Given the description of an element on the screen output the (x, y) to click on. 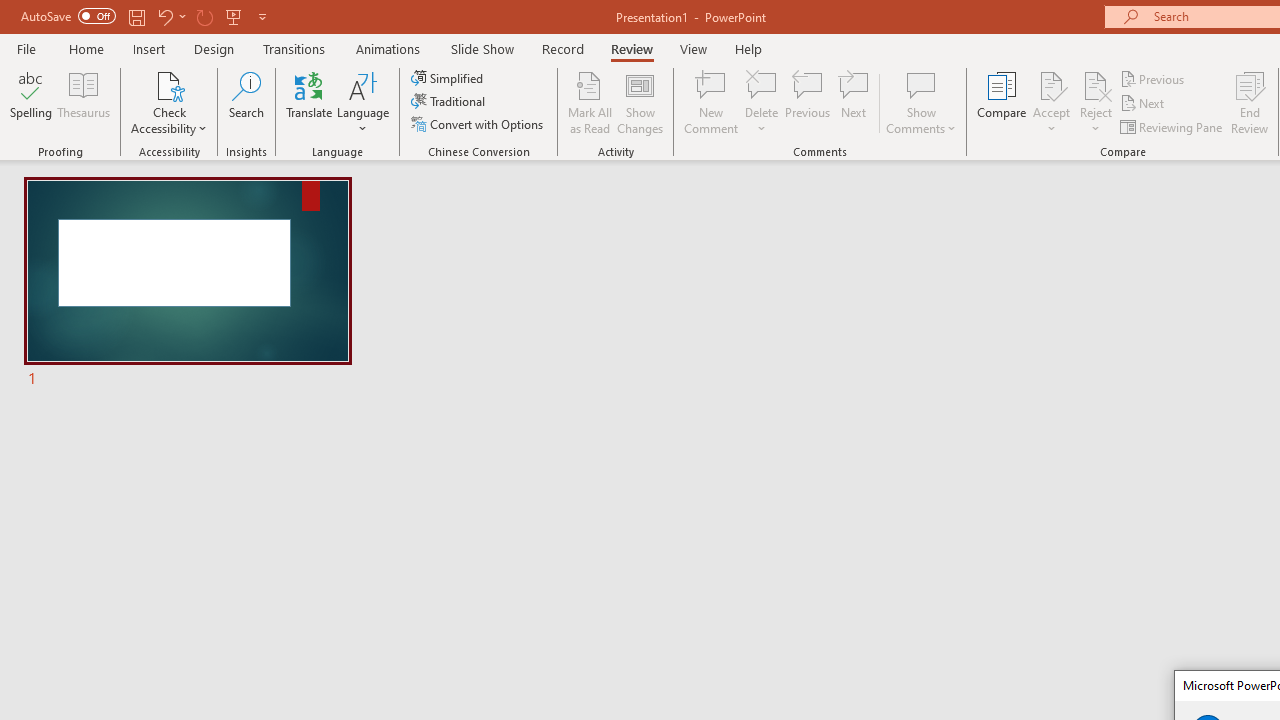
Thesaurus... (83, 102)
Accept (1051, 102)
Show Changes (639, 102)
End Review (1249, 102)
Convert with Options... (479, 124)
